Given the description of an element on the screen output the (x, y) to click on. 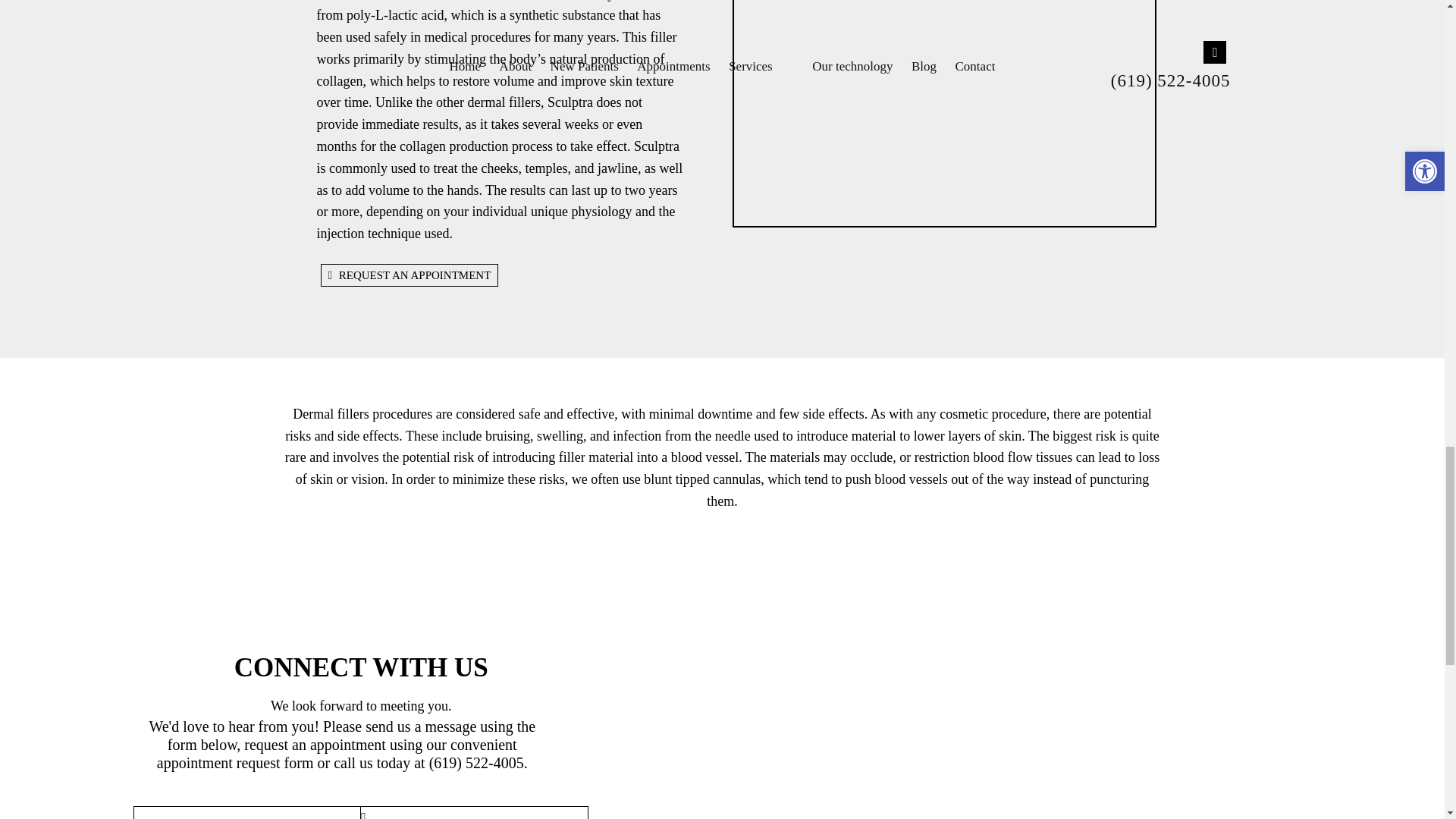
REQUEST AN APPOINTMENT (408, 274)
